Given the description of an element on the screen output the (x, y) to click on. 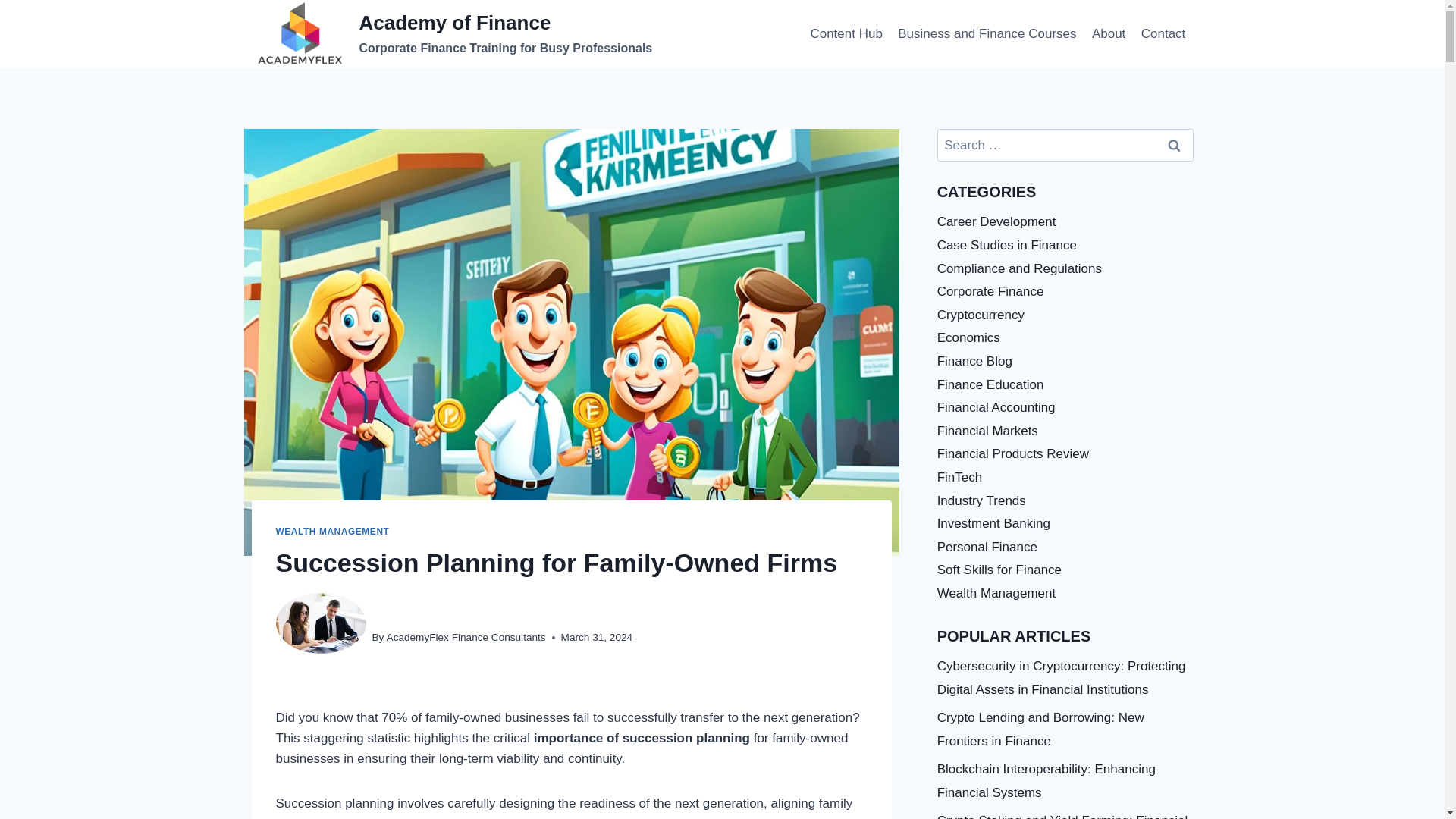
Business and Finance Courses (986, 33)
About (1109, 33)
WEALTH MANAGEMENT (333, 531)
Contact (1163, 33)
Search (1174, 144)
Content Hub (845, 33)
Search (1174, 144)
AcademyFlex Finance Consultants (466, 636)
